Given the description of an element on the screen output the (x, y) to click on. 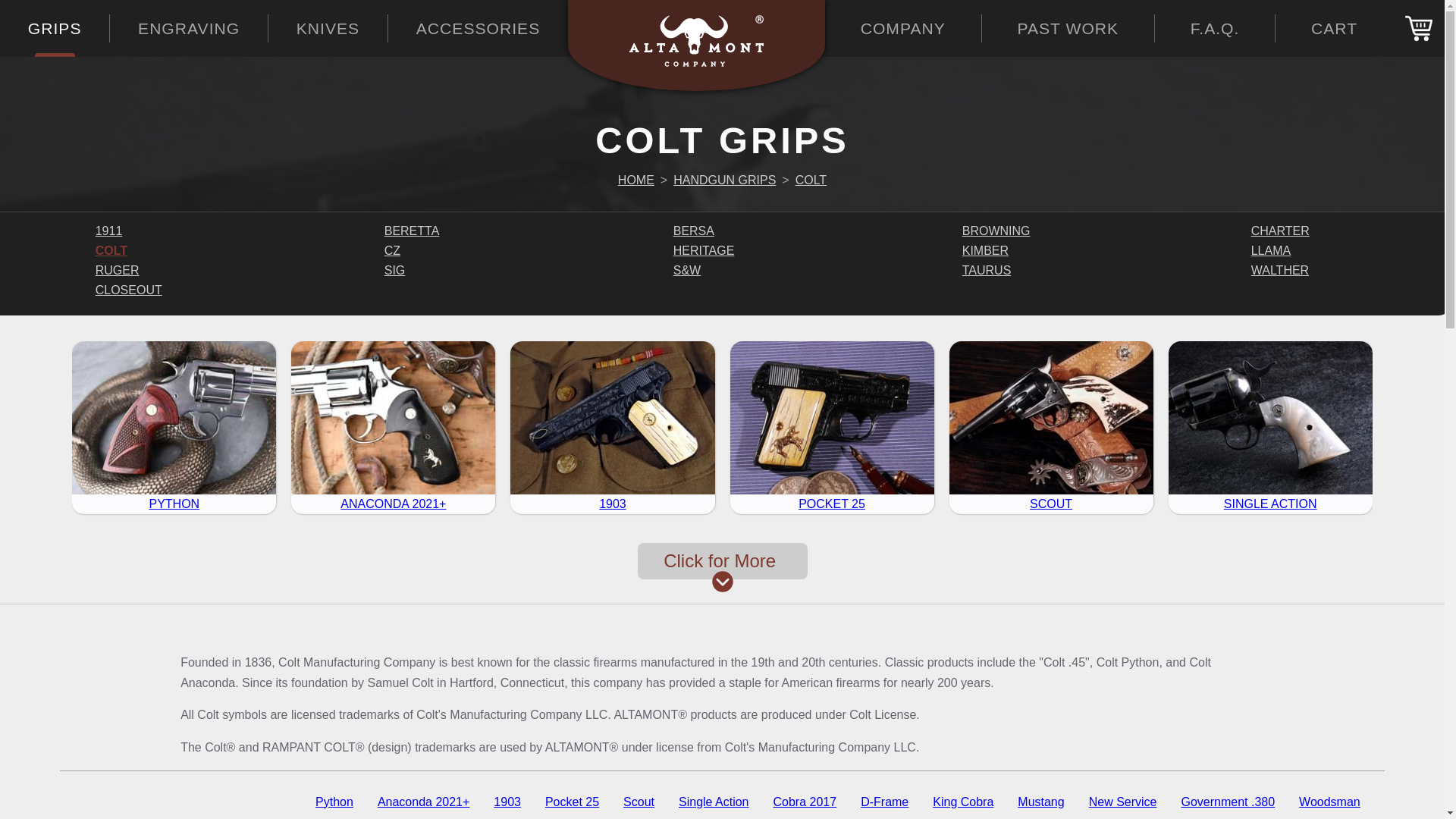
GRIPS (55, 28)
F.A.Q. (1214, 28)
PAST WORK (1067, 28)
COMPANY (903, 28)
KNIVES (327, 28)
ACCESSORIES (478, 28)
ENGRAVING (188, 28)
